Given the description of an element on the screen output the (x, y) to click on. 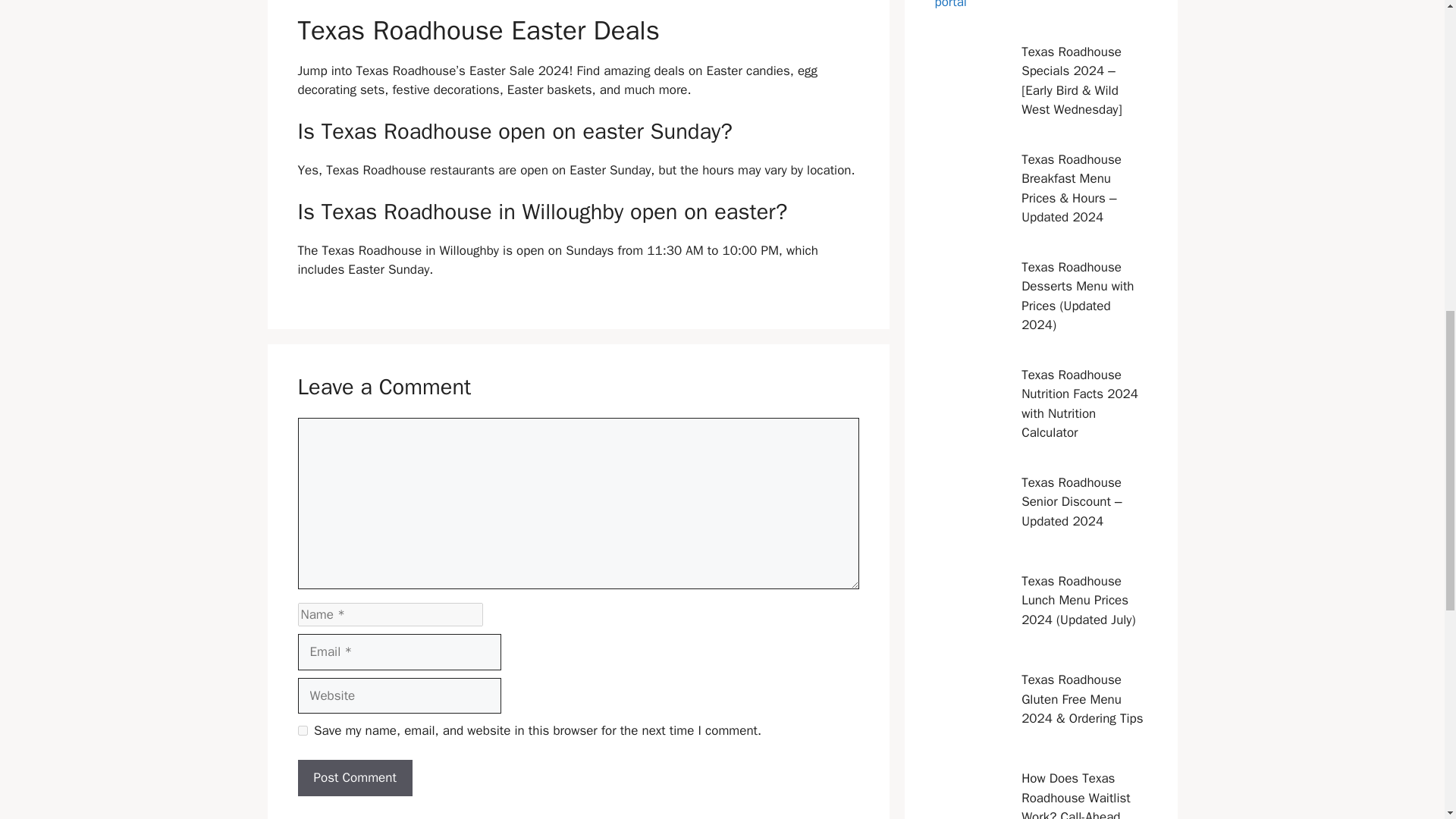
yes (302, 730)
Post Comment (354, 778)
Post Comment (354, 778)
